Given the description of an element on the screen output the (x, y) to click on. 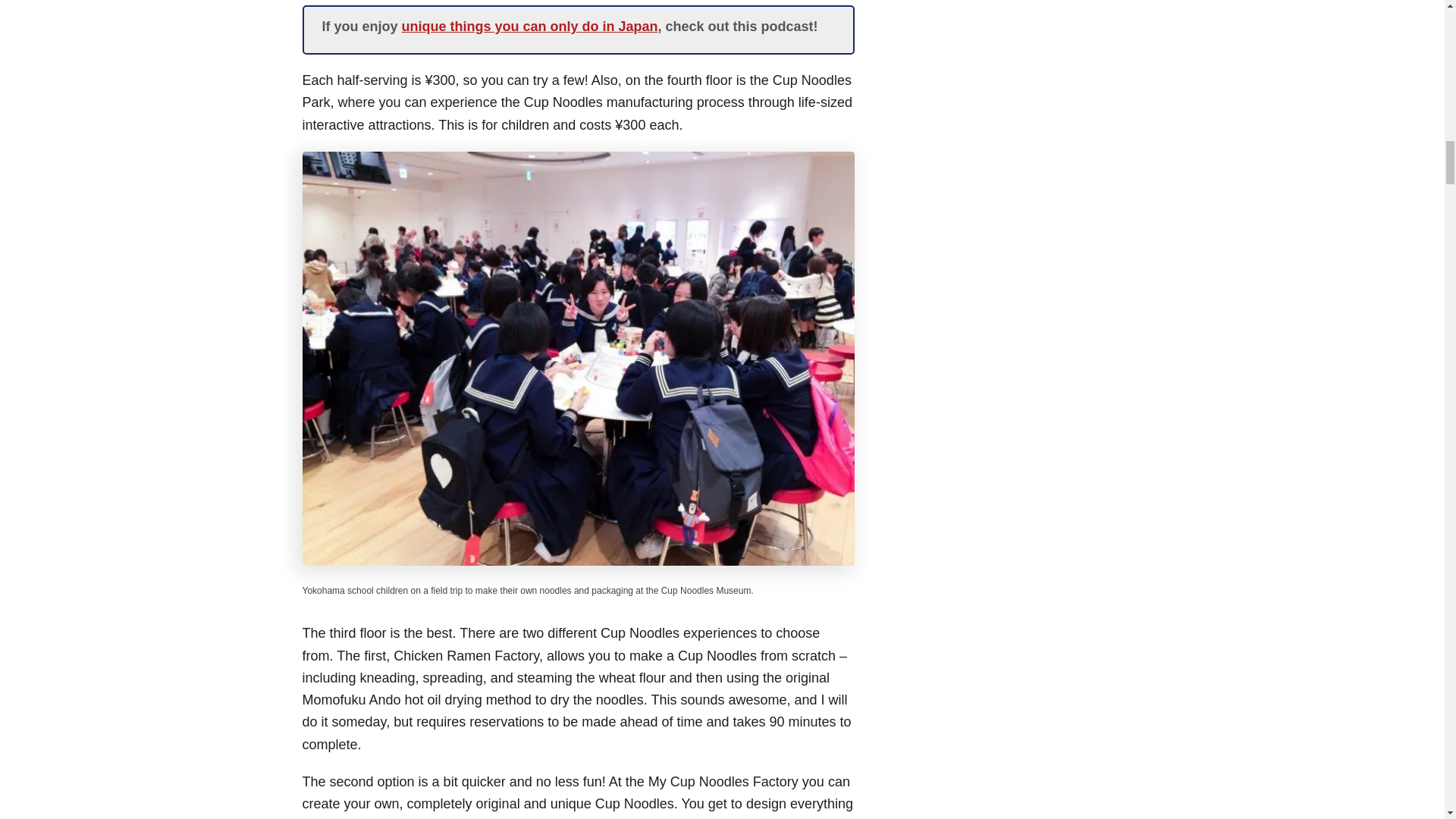
unique things you can only do in Japan (529, 26)
